Given the description of an element on the screen output the (x, y) to click on. 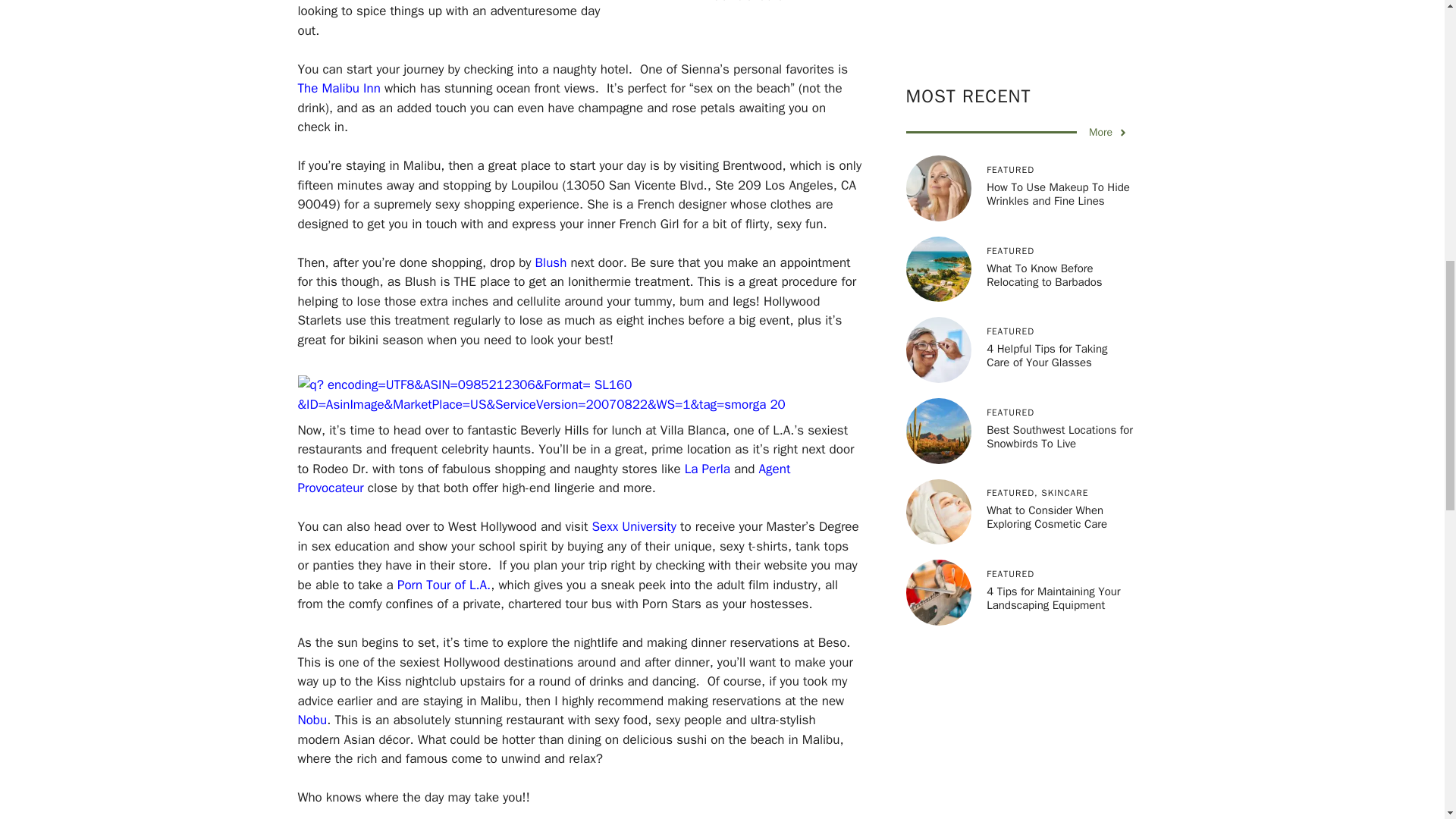
Agent Provocateur (543, 478)
Blush (551, 262)
La Perla (707, 468)
Experience Naughty LA in a Day 2 (572, 394)
Sexx University (634, 526)
The Malibu Inn (338, 88)
Porn Tour of L.A. (443, 584)
Nobu (311, 719)
